Given the description of an element on the screen output the (x, y) to click on. 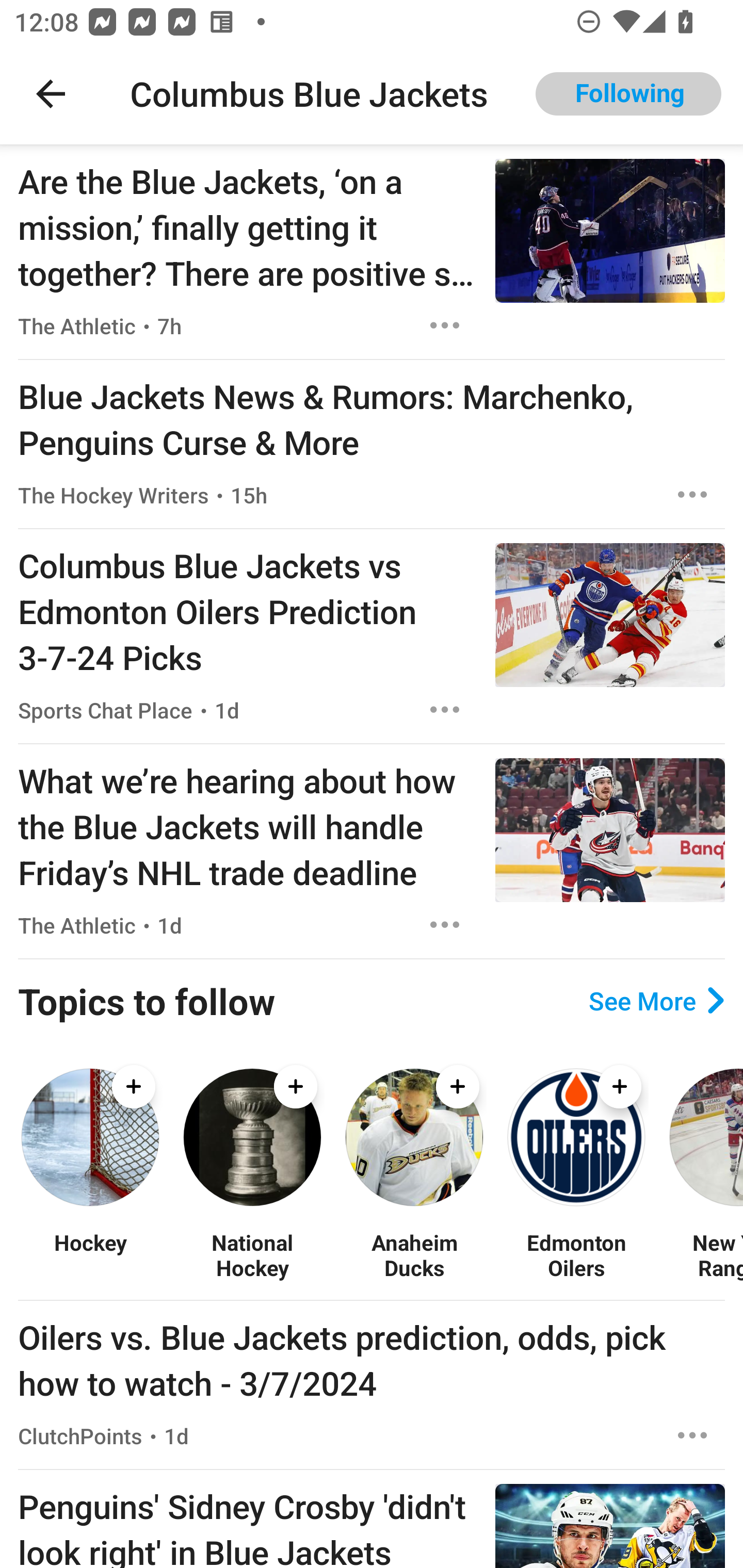
Navigate up (50, 93)
Following (628, 94)
Options (444, 325)
Options (692, 494)
Options (444, 709)
Options (444, 925)
See More (656, 1000)
Hockey (89, 1254)
National Hockey League (251, 1254)
Anaheim Ducks (413, 1254)
Edmonton Oilers (575, 1254)
Options (692, 1435)
